Given the description of an element on the screen output the (x, y) to click on. 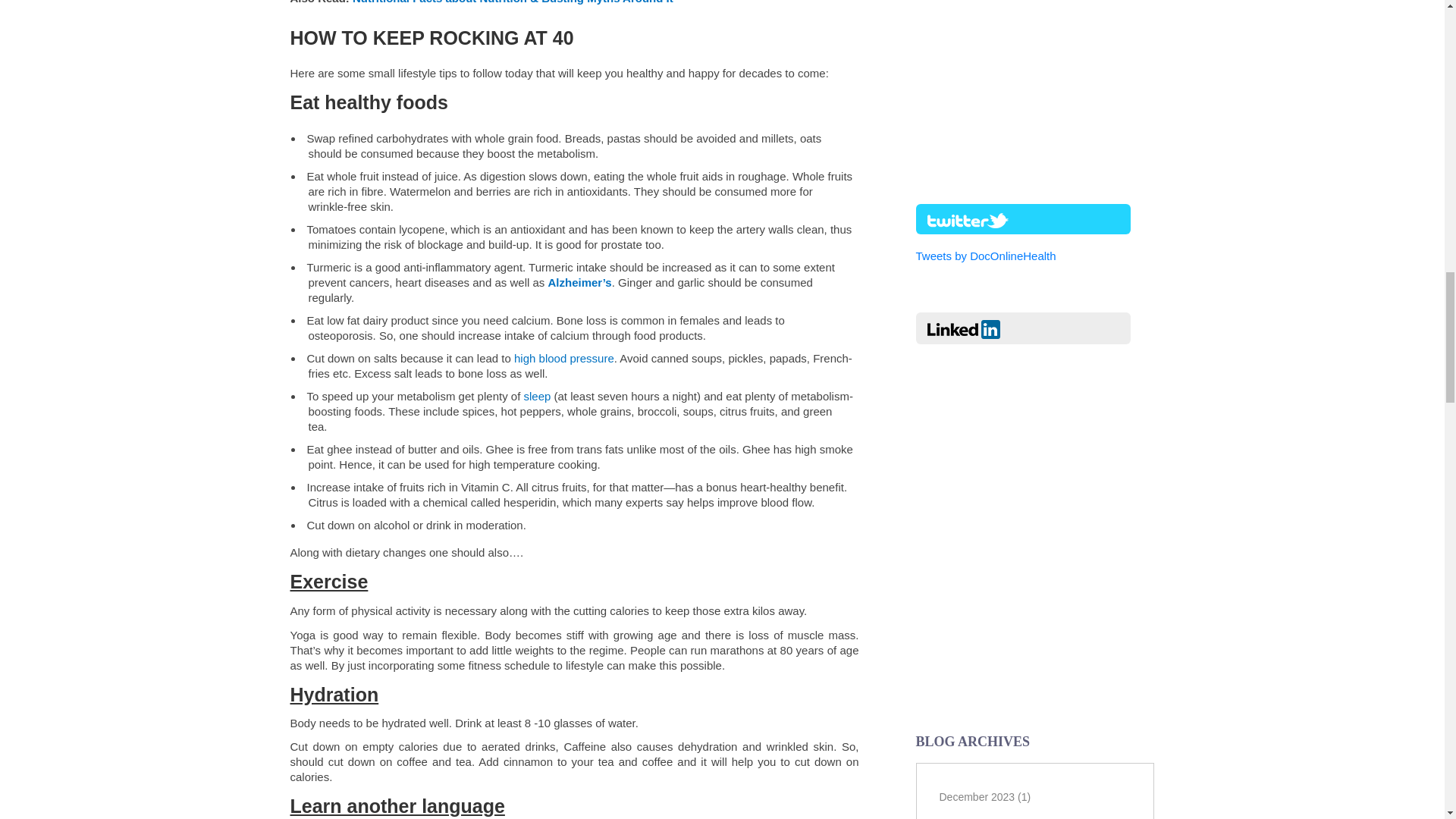
high blood pressure (563, 358)
sleep (536, 395)
nutritional facts (512, 2)
Alzheimer desease (579, 282)
high blood pressure treatment (563, 358)
how to get good sleep (536, 395)
